Given the description of an element on the screen output the (x, y) to click on. 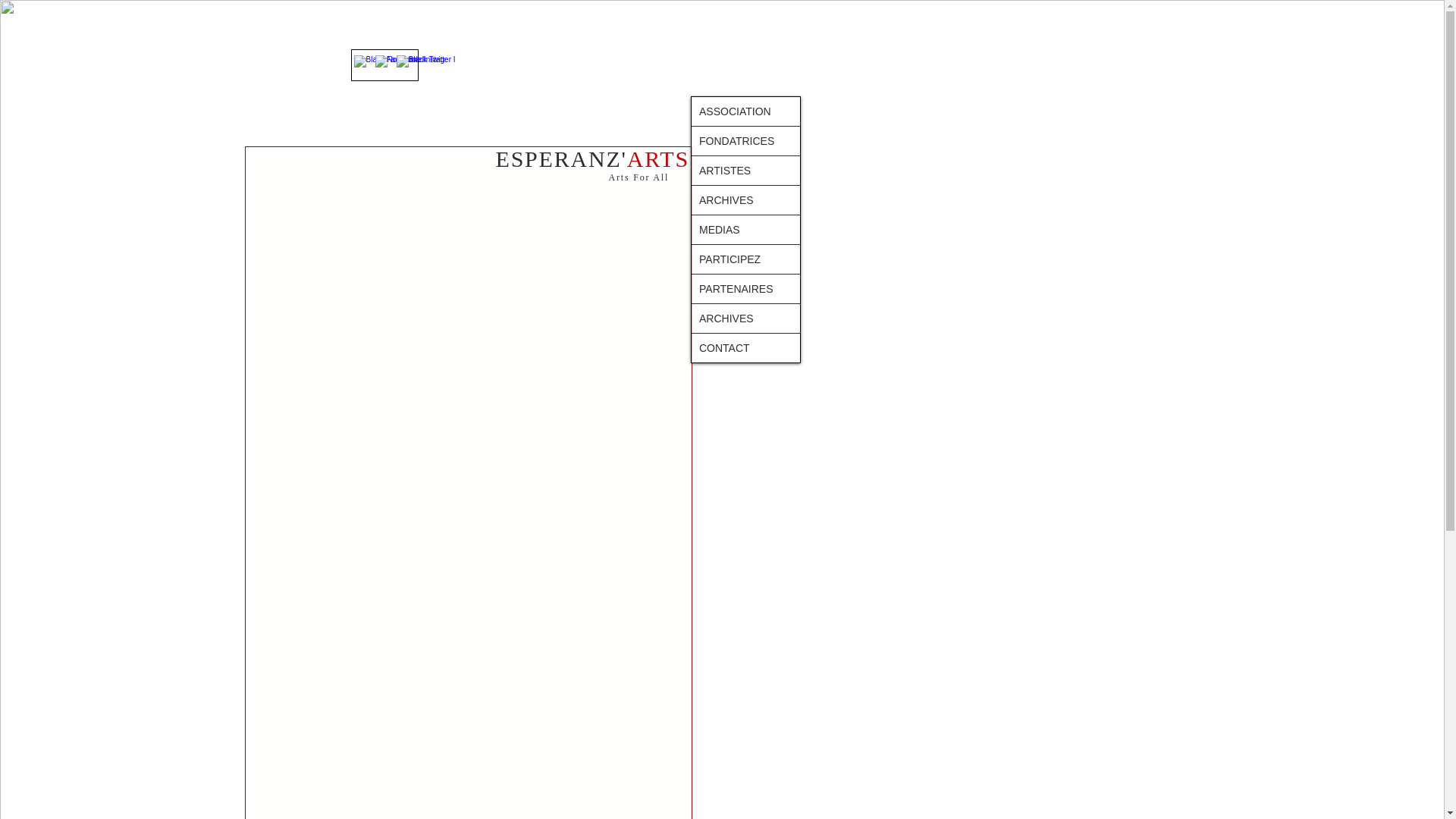
PARTICIPEZ (745, 258)
MEDIAS (745, 229)
ARTISTES (745, 170)
ARCHIVES (745, 317)
PARTENAIRES (745, 288)
CONTACT (745, 347)
ARCHIVES (745, 199)
ASSOCIATION (745, 111)
FONDATRICES (745, 140)
